Given the description of an element on the screen output the (x, y) to click on. 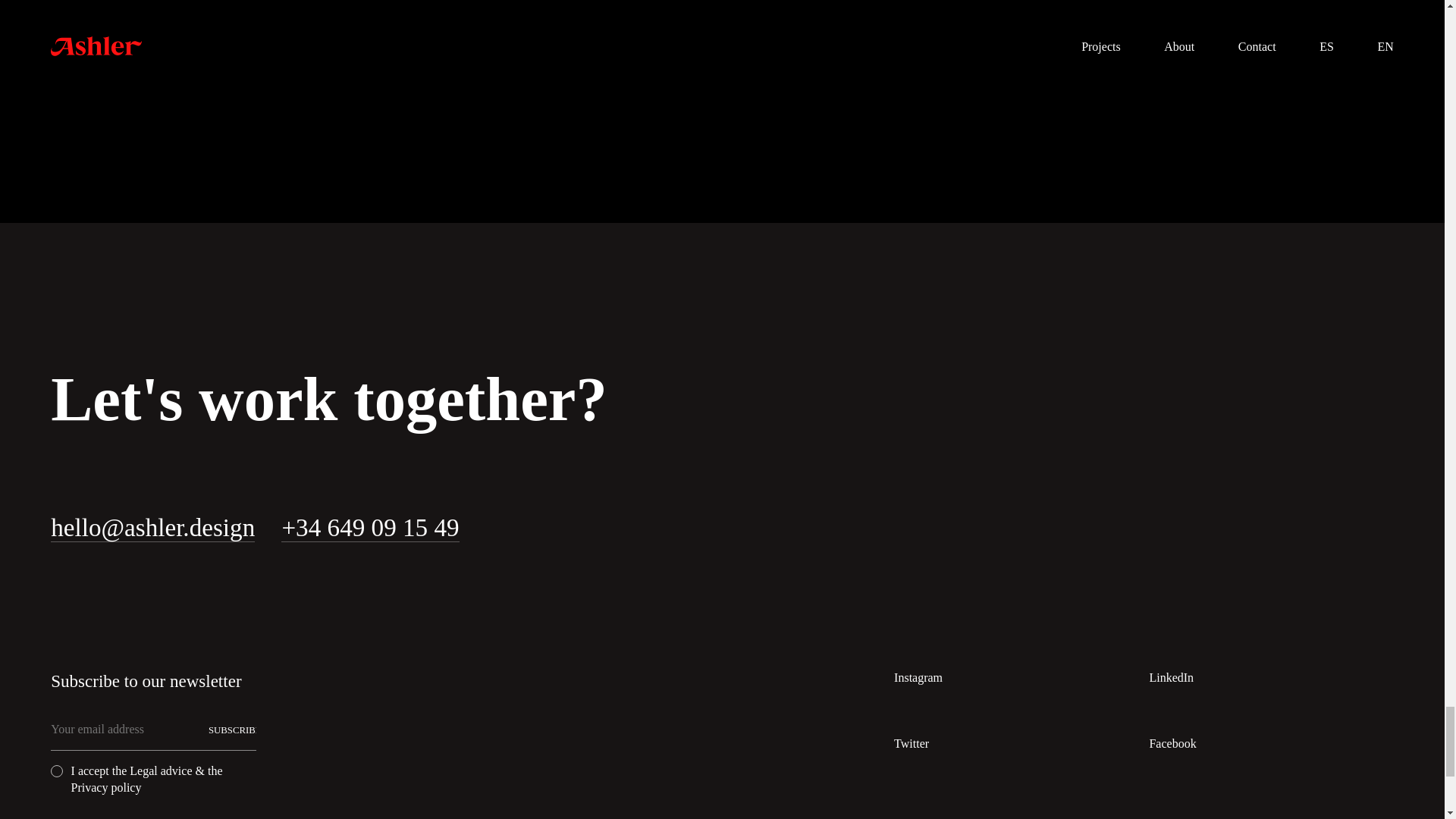
Privacy policy (106, 787)
Twitter (910, 744)
LinkedIn (1170, 678)
Legal advice (160, 770)
Ashler Design's Instagram (917, 678)
Ashler Design's LinkedIn (1170, 678)
Facebook (1171, 744)
Ashler Design's Facebook (1171, 744)
Subscribe (232, 732)
Instagram (917, 678)
Ashler Design's Twitter (910, 744)
Subscribe (232, 732)
